Given the description of an element on the screen output the (x, y) to click on. 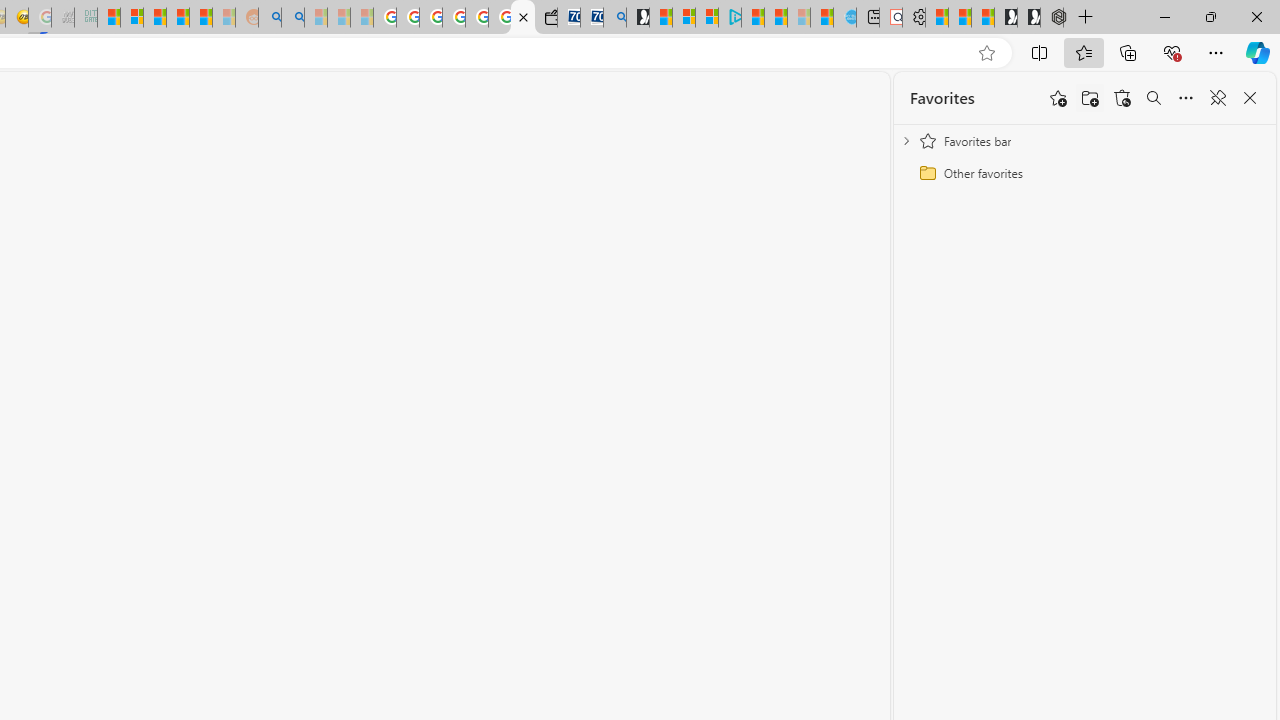
Close favorites (1250, 98)
Unpin favorites (1217, 98)
Search favorites (1153, 98)
